Given the description of an element on the screen output the (x, y) to click on. 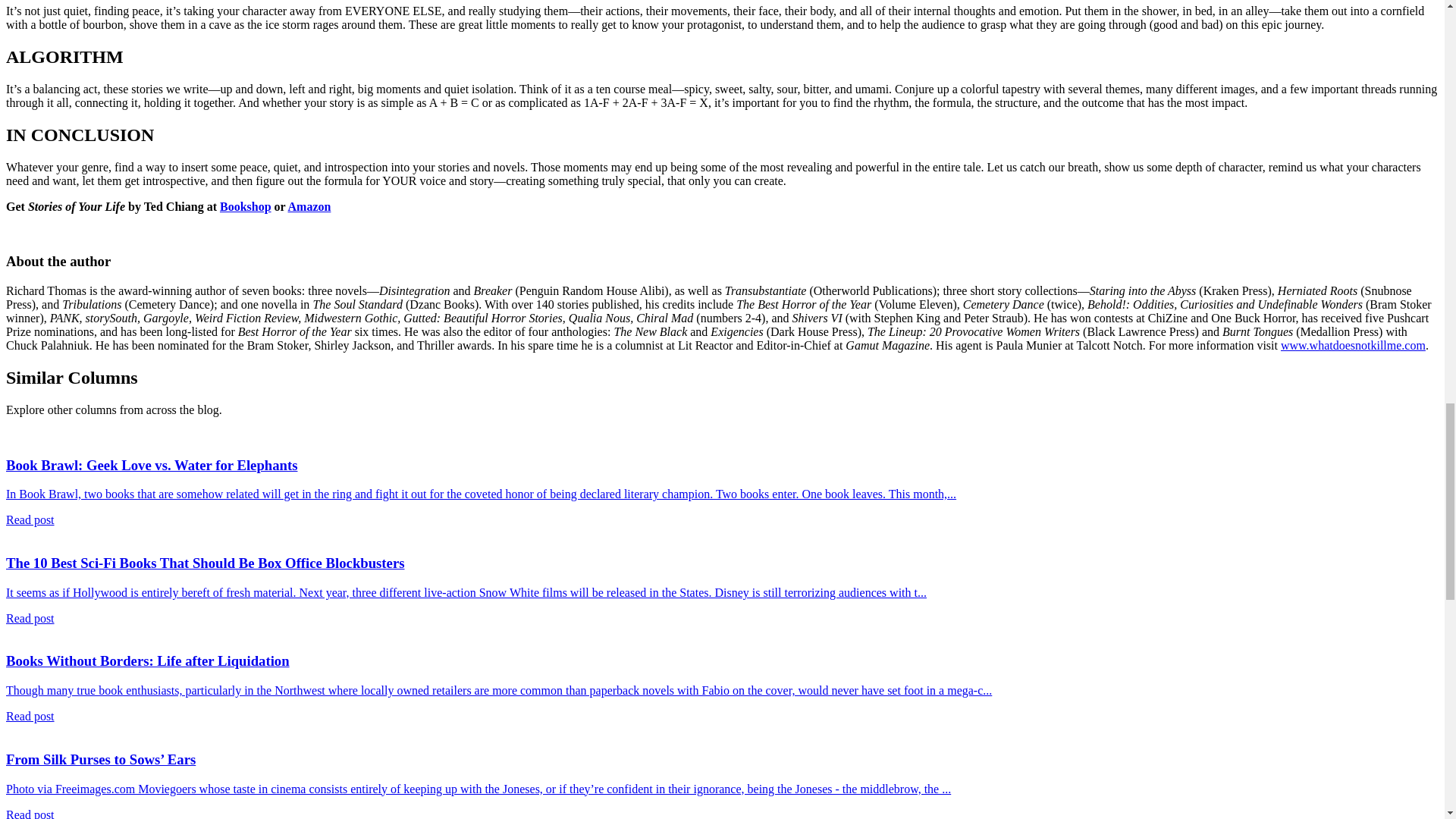
Amazon (309, 205)
Bookshop (244, 205)
www.whatdoesnotkillme.com (1353, 345)
